Given the description of an element on the screen output the (x, y) to click on. 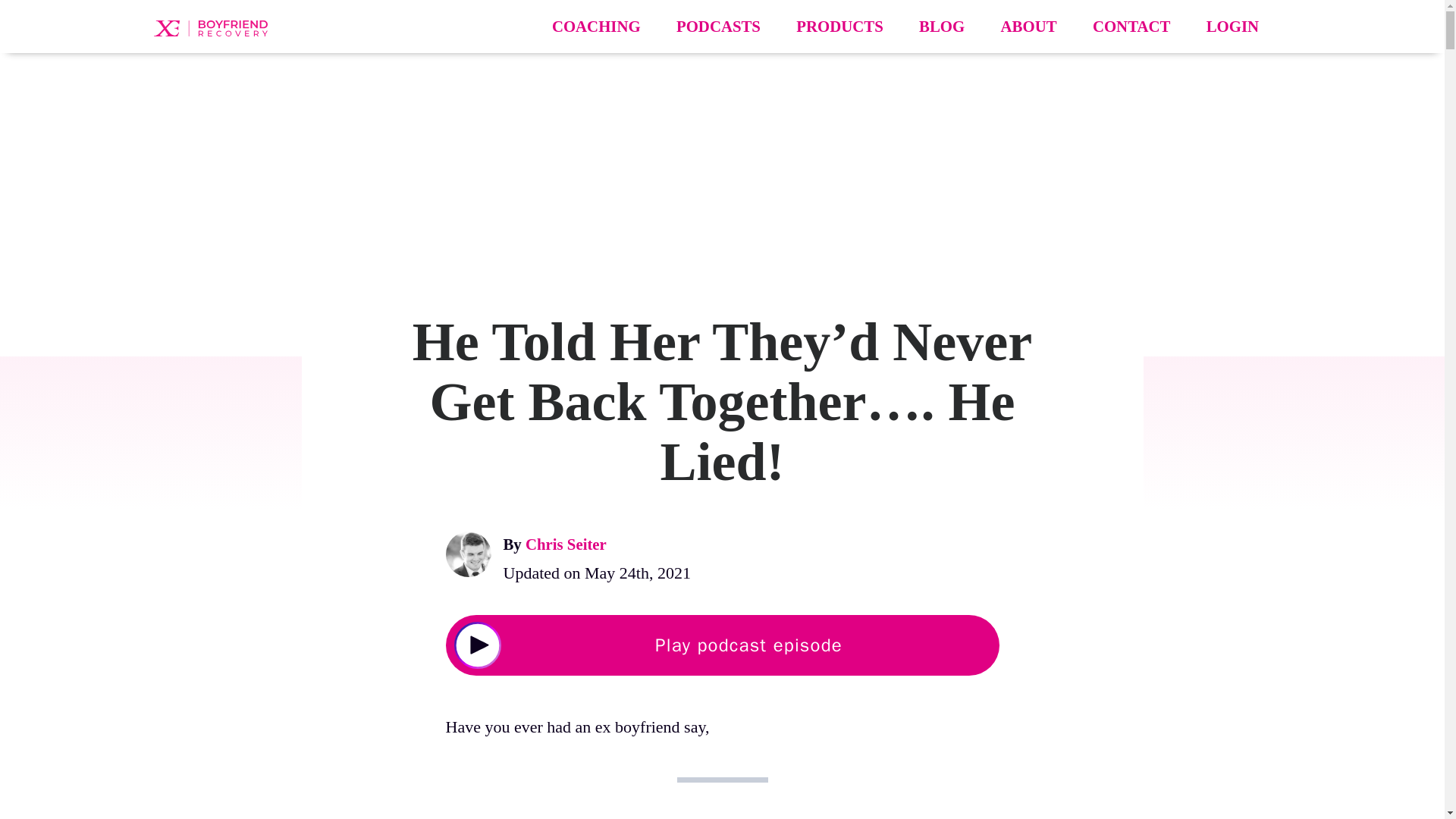
ABOUT (1029, 26)
PODCASTS (718, 26)
BLOG (940, 26)
CONTACT (1131, 26)
PRODUCTS (839, 26)
COACHING (595, 26)
Chris Seiter (566, 543)
LOGIN (1233, 26)
